Given the description of an element on the screen output the (x, y) to click on. 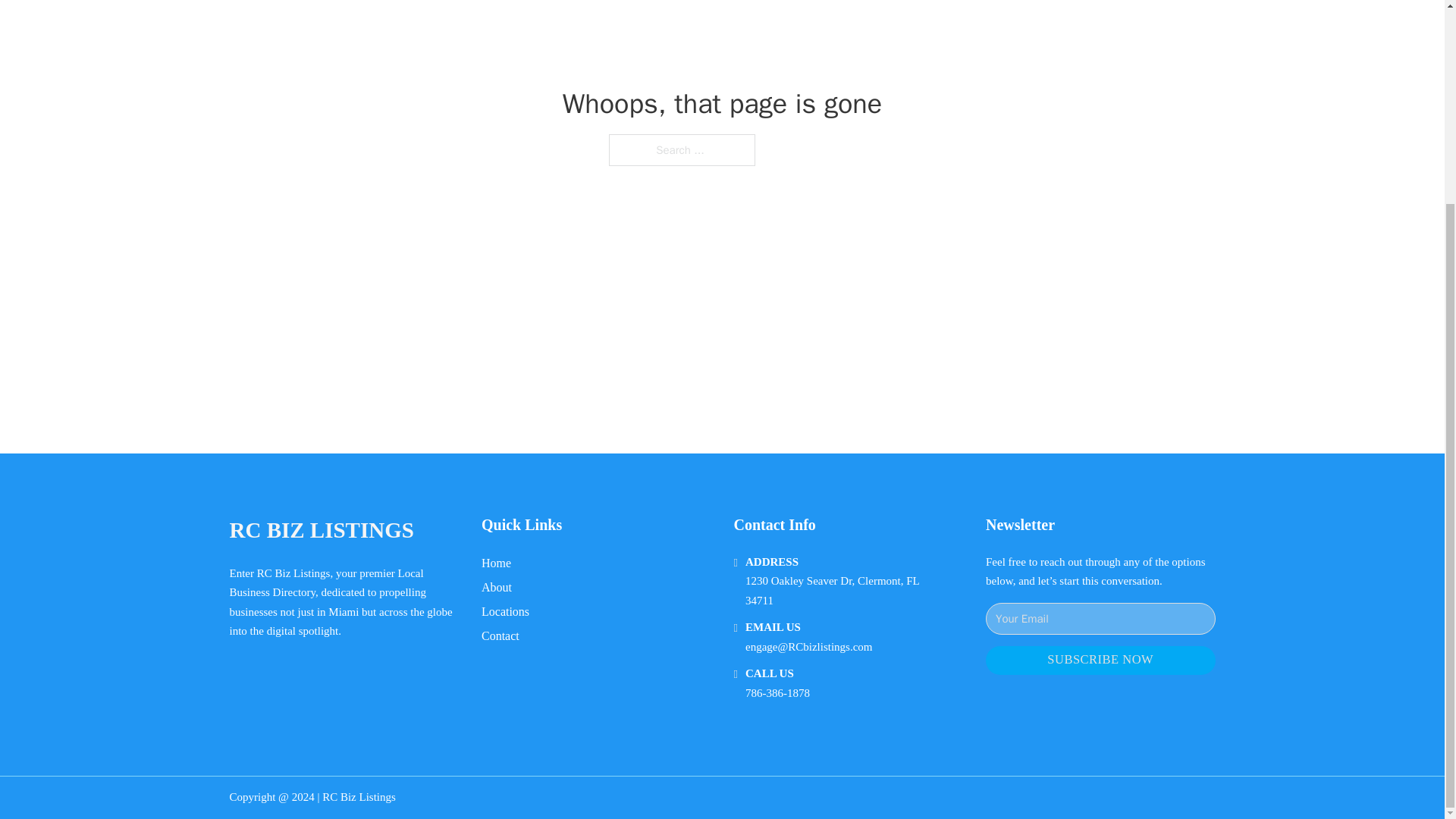
RC BIZ LISTINGS (320, 529)
SUBSCRIBE NOW (1100, 660)
786-386-1878 (777, 693)
Contact (500, 635)
Locations (505, 611)
Home (496, 562)
About (496, 587)
